Given the description of an element on the screen output the (x, y) to click on. 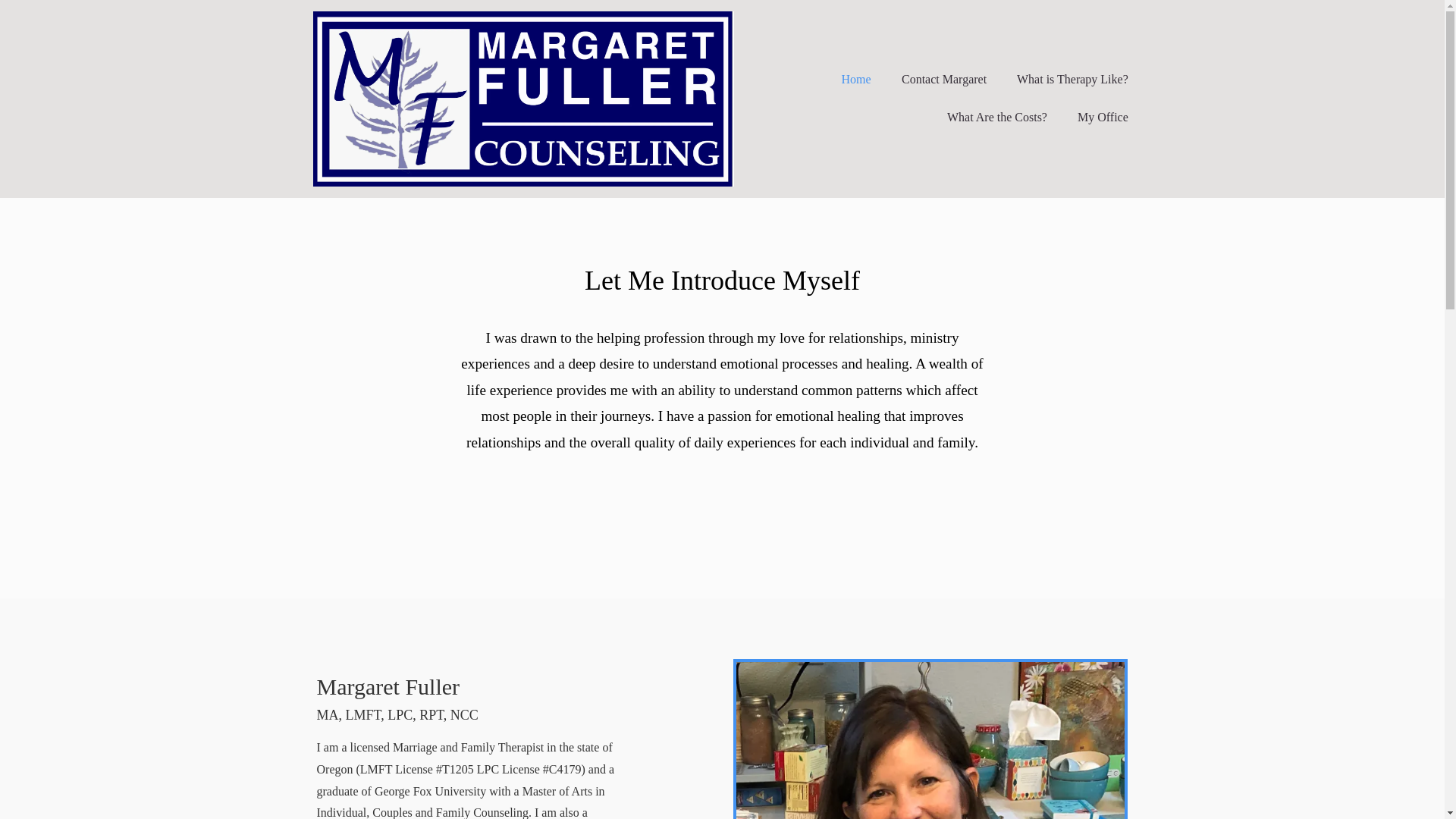
What is Therapy Like? (1071, 79)
Contact Margaret (943, 79)
What Are the Costs? (996, 117)
My Office (1102, 117)
Home (856, 79)
